Given the description of an element on the screen output the (x, y) to click on. 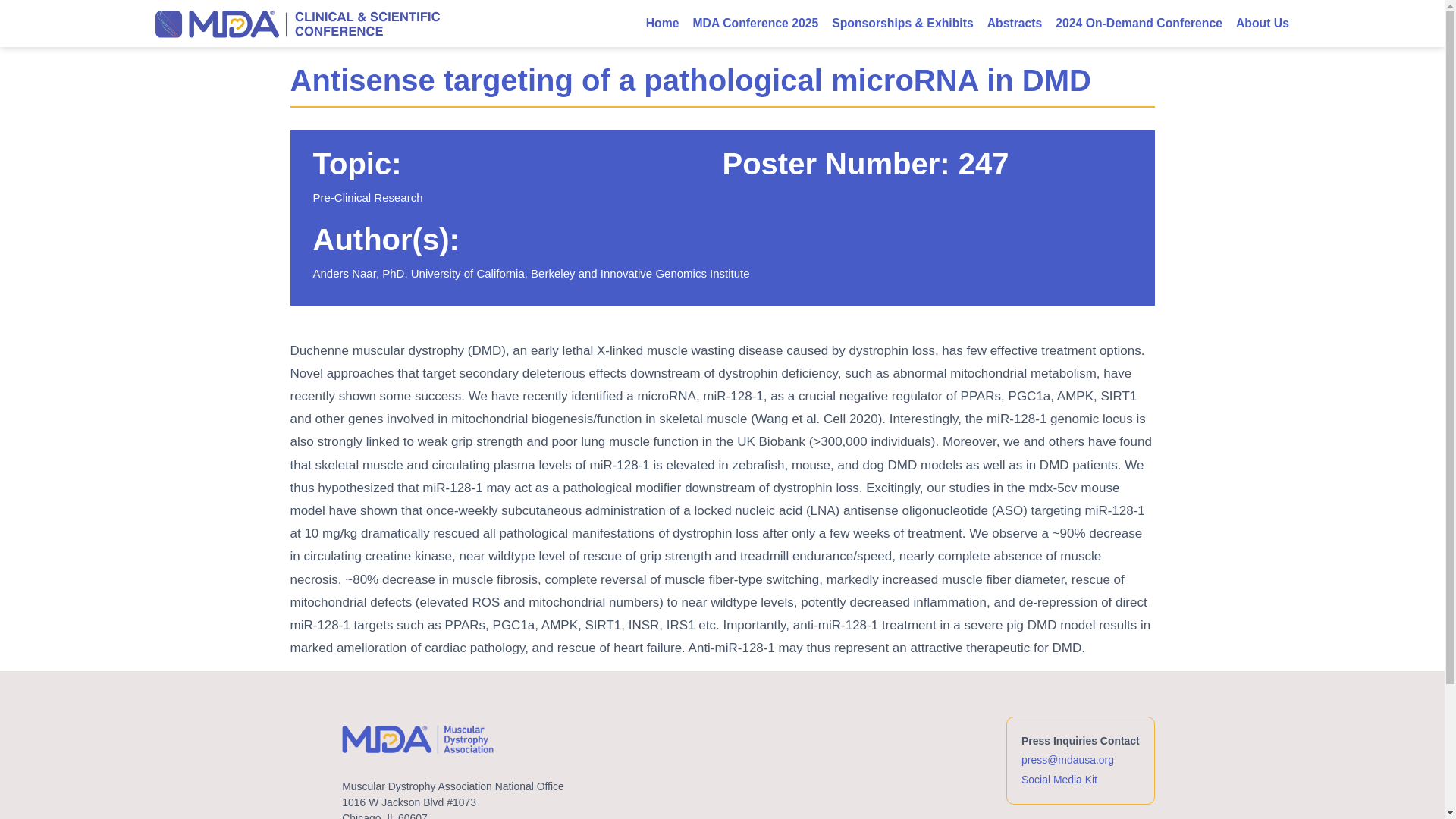
Home (655, 23)
MDA Conference 2025 (748, 23)
2024 On-Demand Conference (1132, 23)
About Us (1255, 23)
Abstracts (1008, 23)
